Given the description of an element on the screen output the (x, y) to click on. 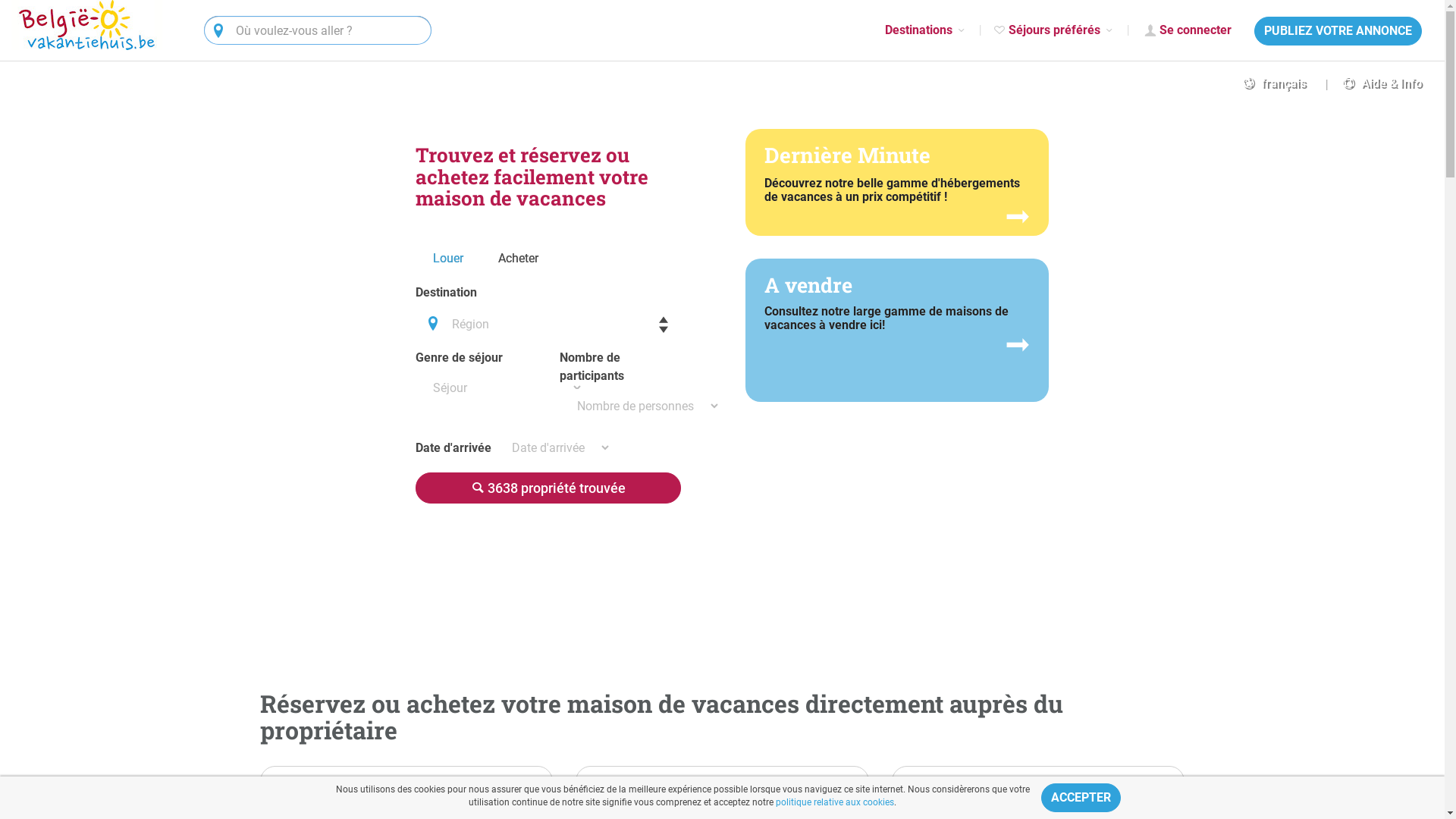
politique relative aux cookies Element type: text (834, 802)
Aide & Info Element type: text (1364, 82)
Destinations Element type: text (926, 30)
PUBLIEZ VOTRE ANNONCE Element type: text (1337, 30)
Se connecter Element type: text (1184, 30)
